Given the description of an element on the screen output the (x, y) to click on. 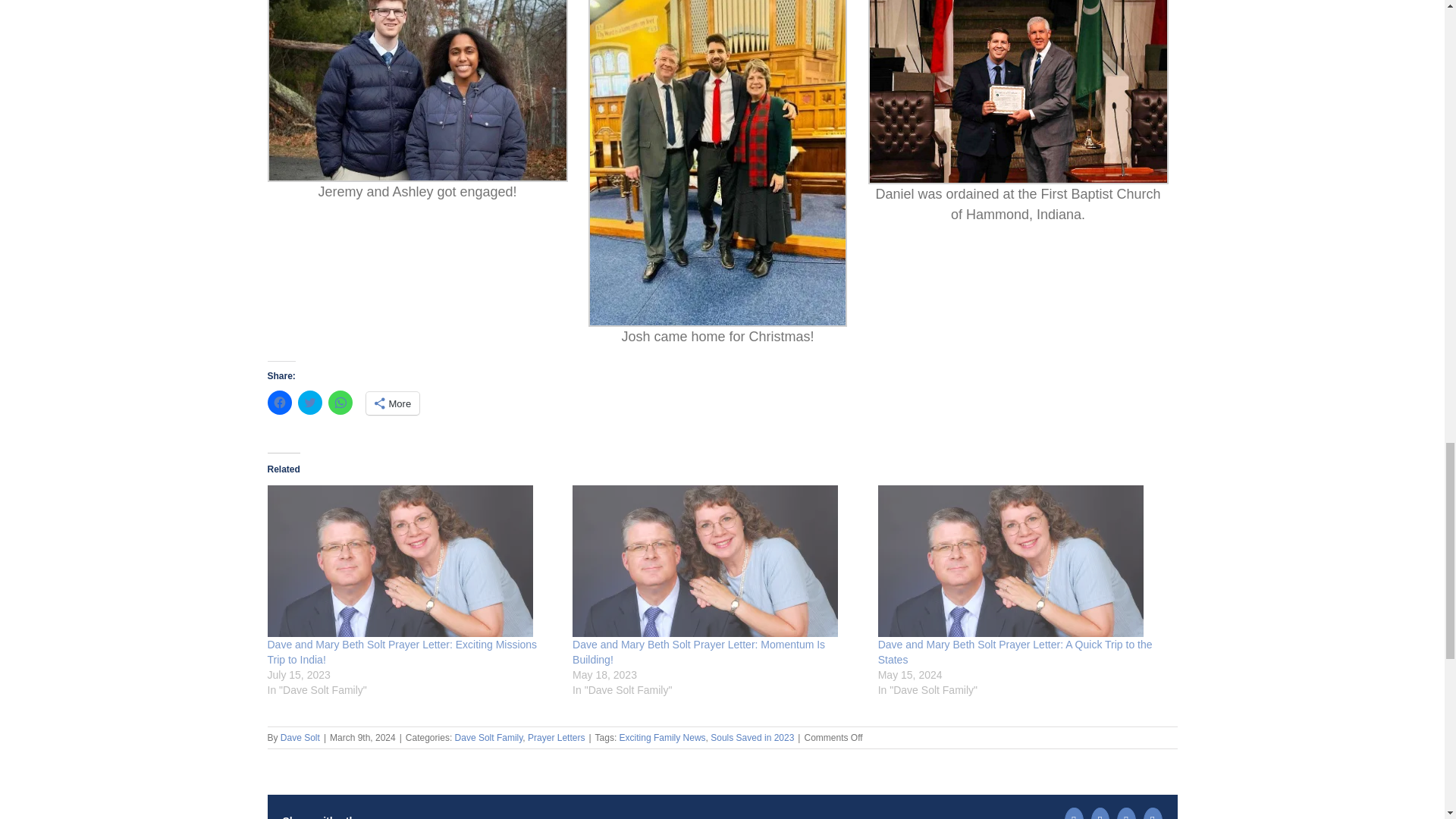
Click to share on Facebook (278, 402)
Click to share on WhatsApp (339, 402)
Click to share on Twitter (309, 402)
